Given the description of an element on the screen output the (x, y) to click on. 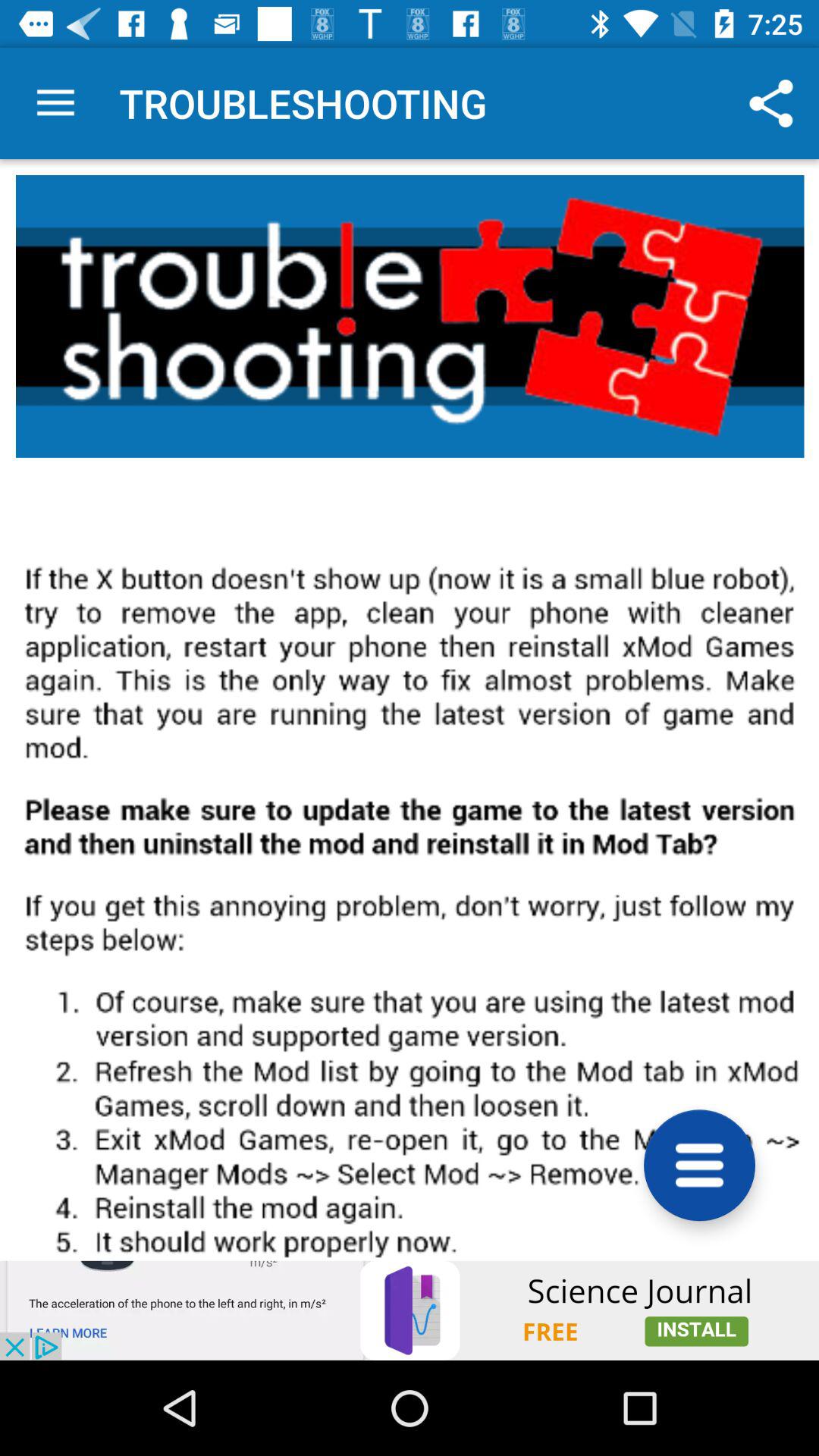
install app (409, 1310)
